Given the description of an element on the screen output the (x, y) to click on. 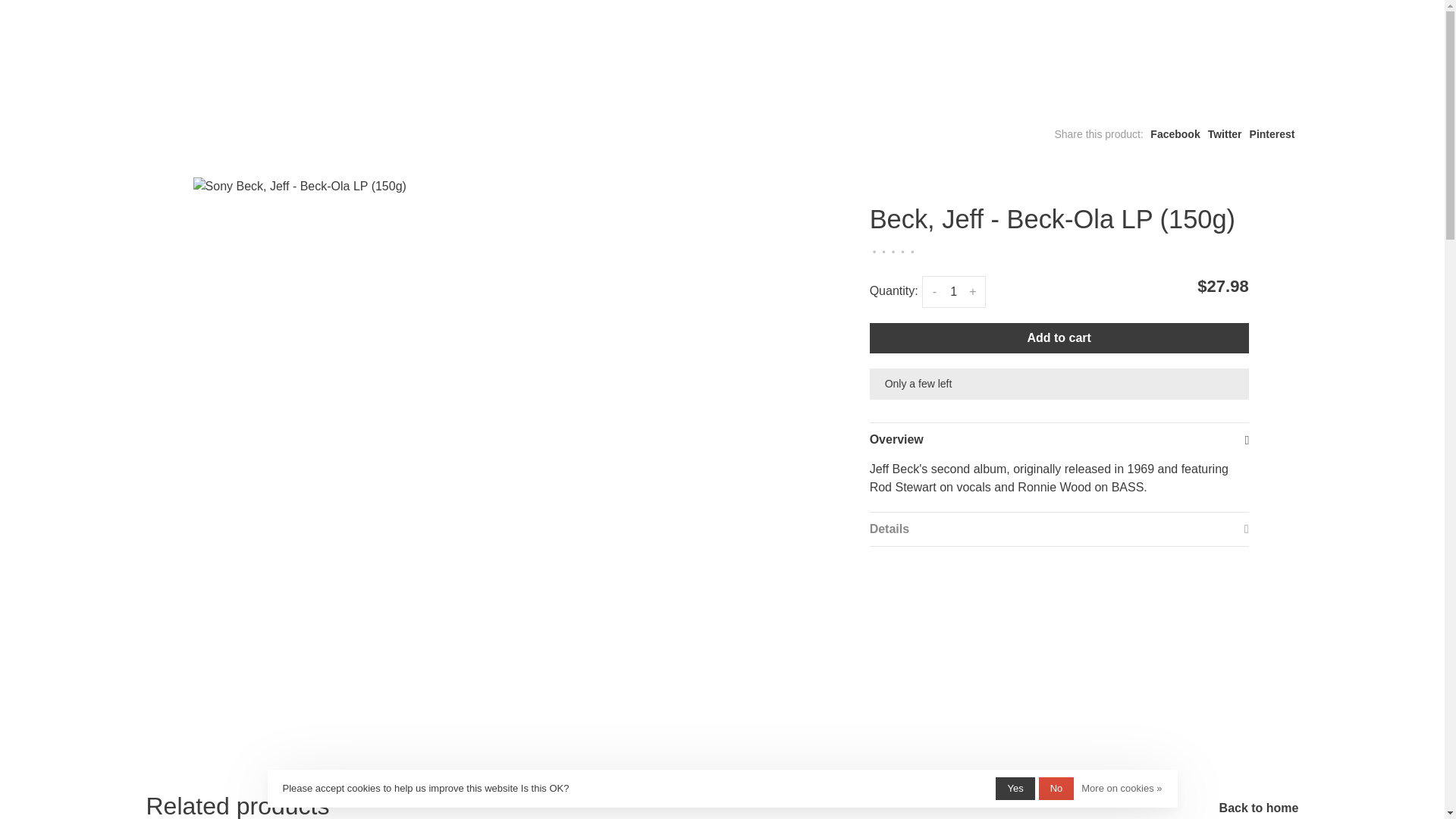
1 (953, 291)
